Given the description of an element on the screen output the (x, y) to click on. 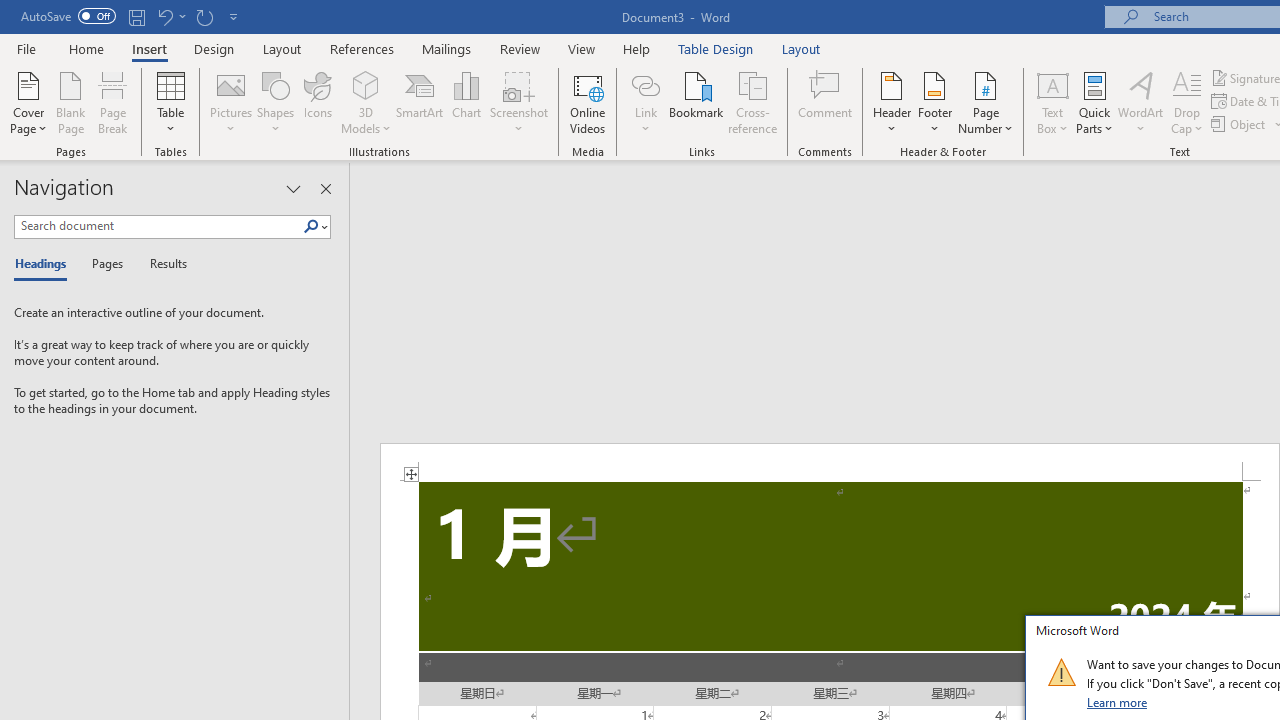
Blank Page (70, 102)
Home (86, 48)
Close pane (325, 188)
Footer (934, 102)
3D Models (366, 84)
Page Number (986, 102)
Pages (105, 264)
3D Models (366, 102)
Class: NetUIImage (1061, 671)
Repeat Doc Close (204, 15)
Object... (1240, 124)
Learn more (1118, 702)
Mailings (447, 48)
Screenshot (518, 102)
